Given the description of an element on the screen output the (x, y) to click on. 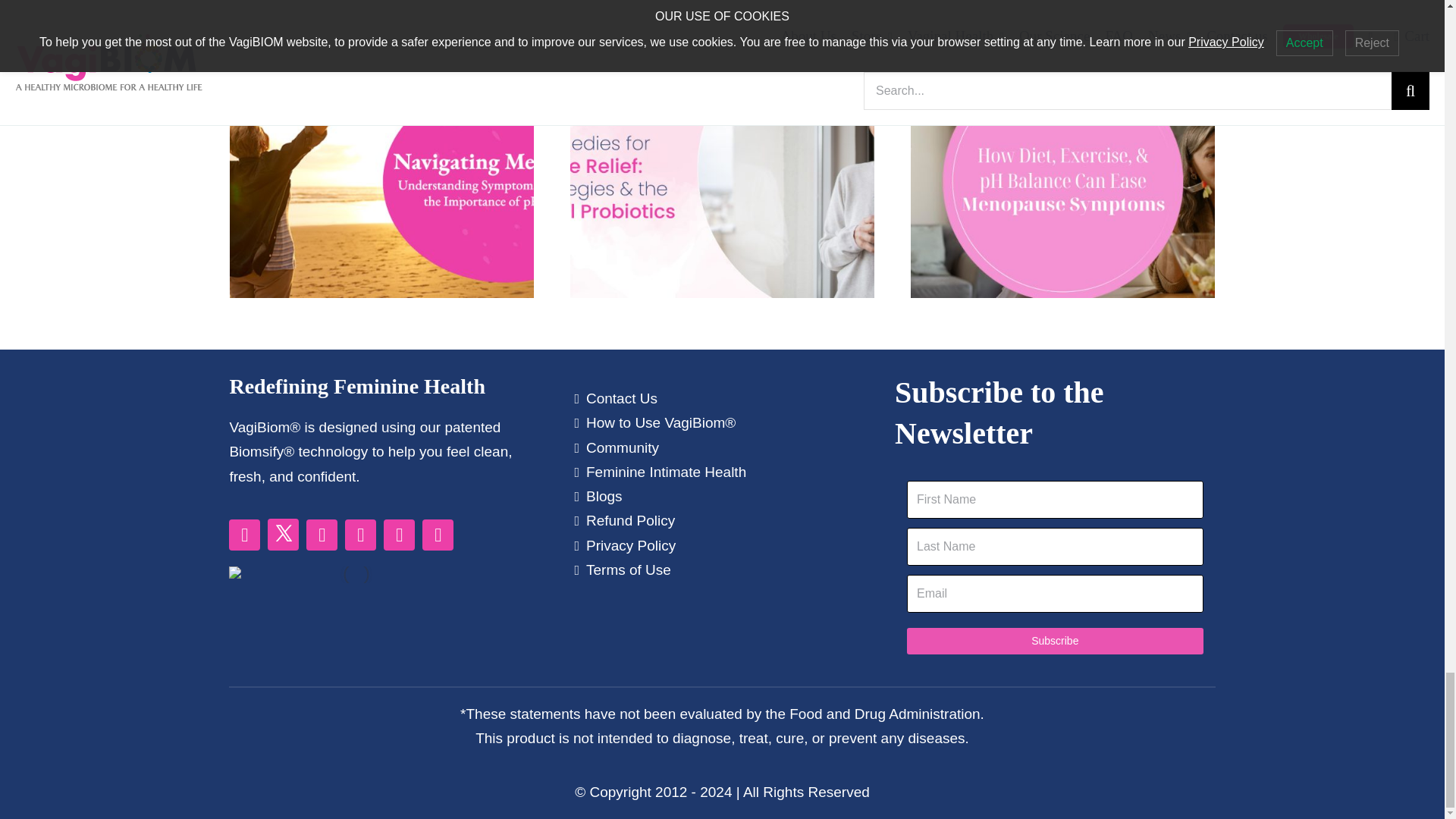
Subscribe (1055, 641)
Women Owned footer logo white (355, 574)
